Given the description of an element on the screen output the (x, y) to click on. 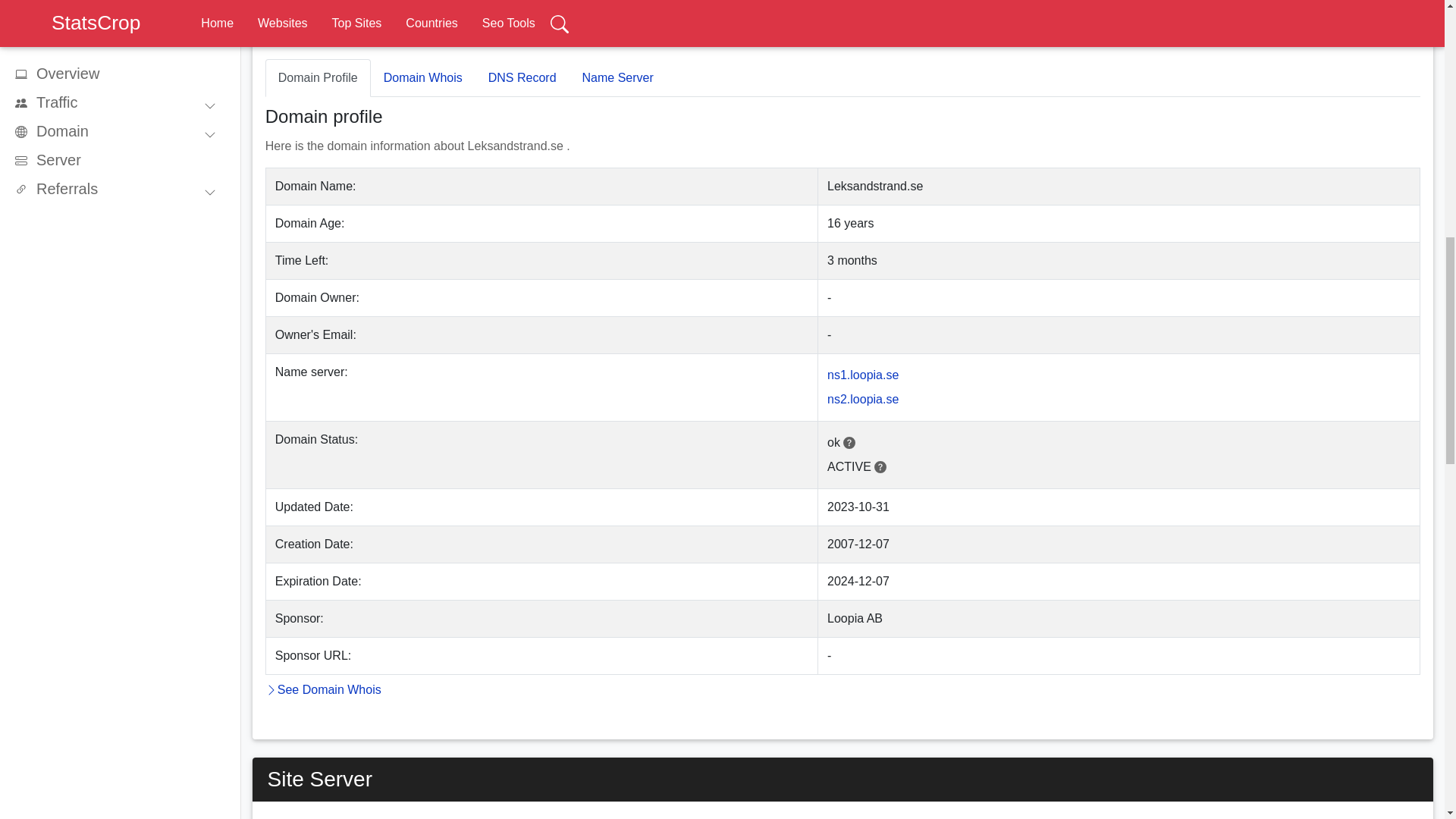
ns2.loopia.se (862, 399)
Domain Whois (423, 77)
ns1.loopia.se (862, 374)
DNS Record (522, 77)
Domain Profile (317, 77)
ns1.loopia.se (862, 374)
Name Server (617, 77)
What's this? (849, 441)
What's this? (880, 466)
ns2.loopia.se (862, 399)
